Given the description of an element on the screen output the (x, y) to click on. 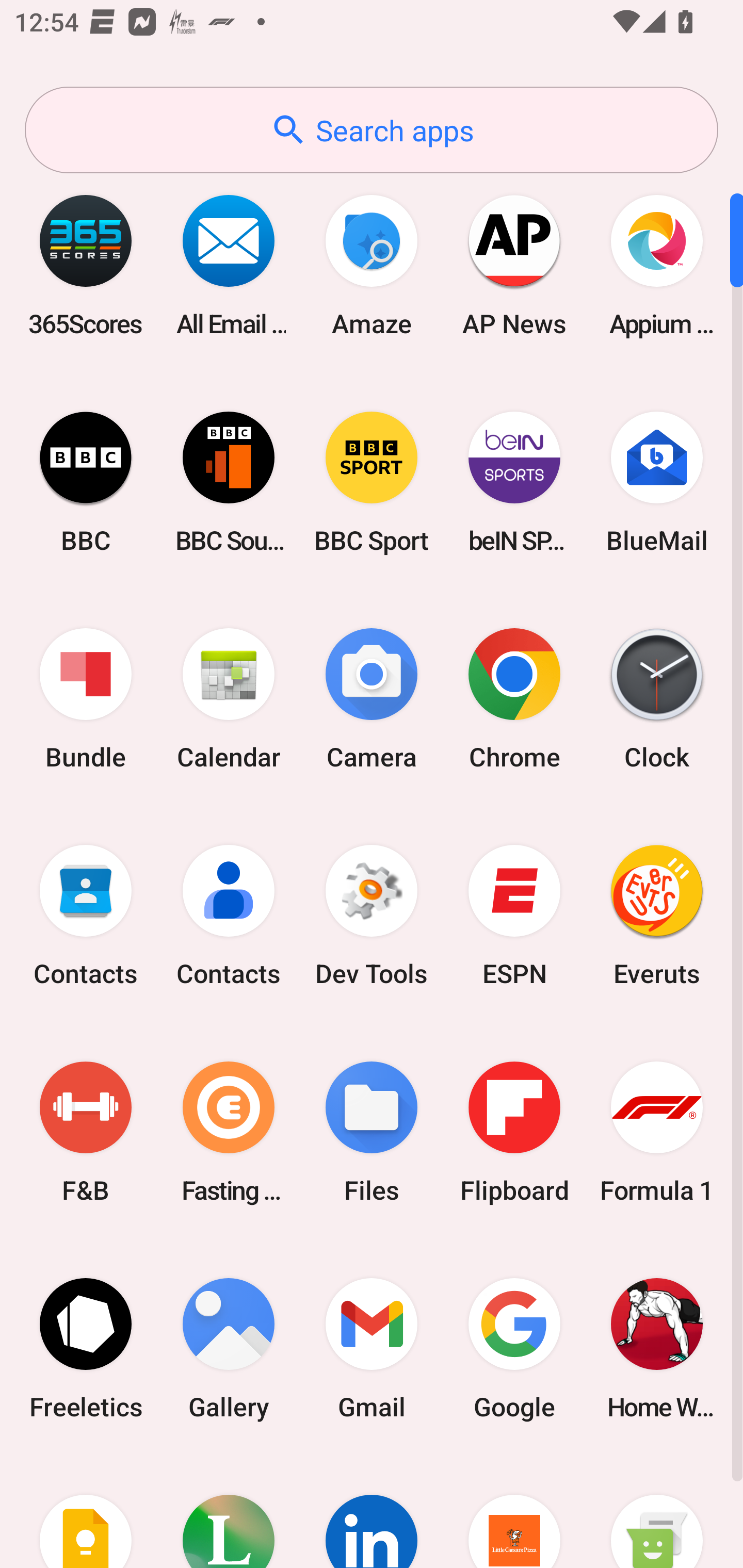
  Search apps (371, 130)
365Scores (85, 264)
All Email Connect (228, 264)
Amaze (371, 264)
AP News (514, 264)
Appium Settings (656, 264)
BBC (85, 482)
BBC Sounds (228, 482)
BBC Sport (371, 482)
beIN SPORTS (514, 482)
BlueMail (656, 482)
Bundle (85, 699)
Calendar (228, 699)
Camera (371, 699)
Chrome (514, 699)
Clock (656, 699)
Contacts (85, 915)
Contacts (228, 915)
Dev Tools (371, 915)
ESPN (514, 915)
Everuts (656, 915)
F&B (85, 1131)
Fasting Coach (228, 1131)
Files (371, 1131)
Flipboard (514, 1131)
Formula 1 (656, 1131)
Freeletics (85, 1348)
Gallery (228, 1348)
Gmail (371, 1348)
Google (514, 1348)
Home Workout (656, 1348)
